Given the description of an element on the screen output the (x, y) to click on. 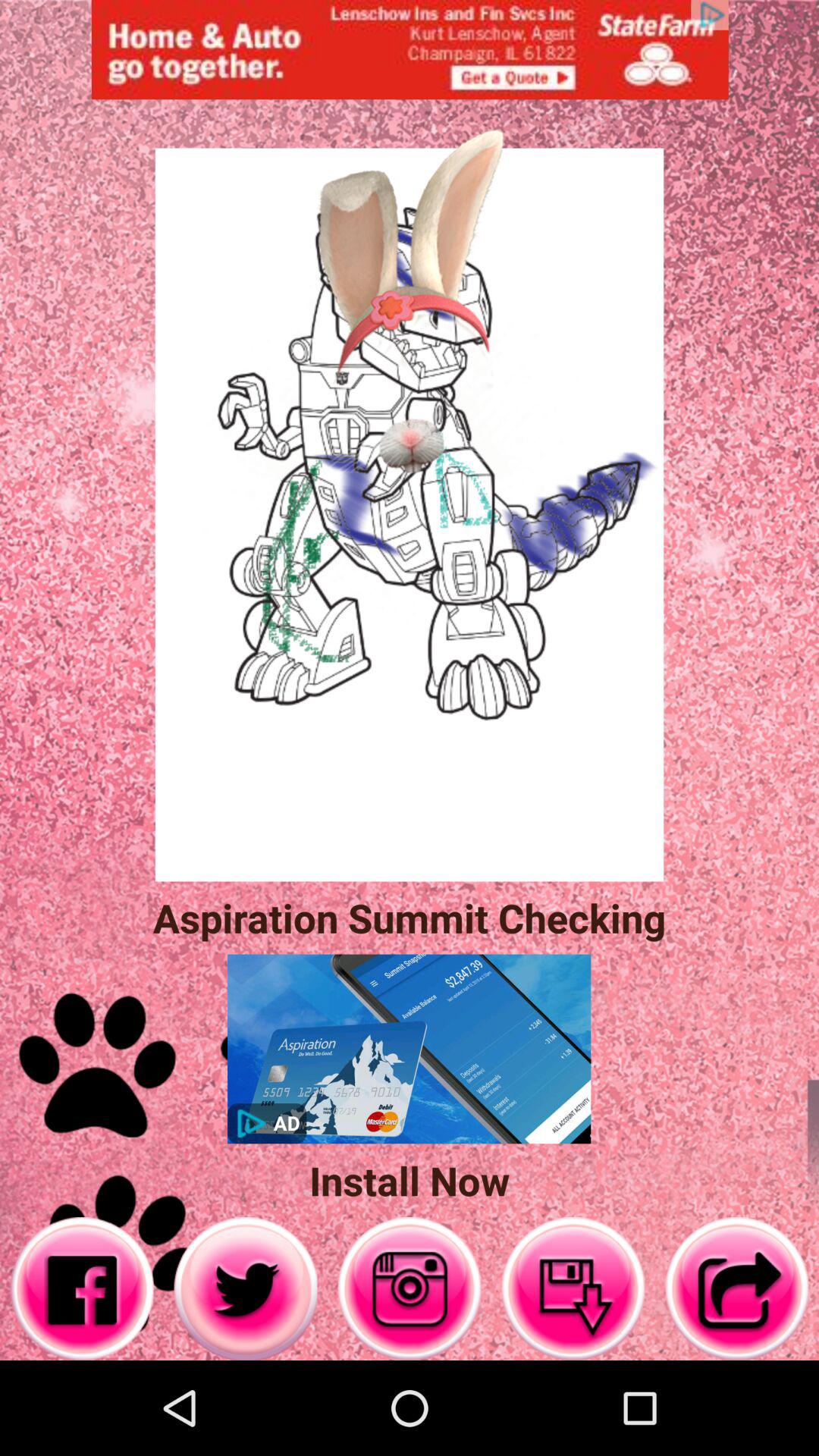
advertisement page (409, 49)
